Given the description of an element on the screen output the (x, y) to click on. 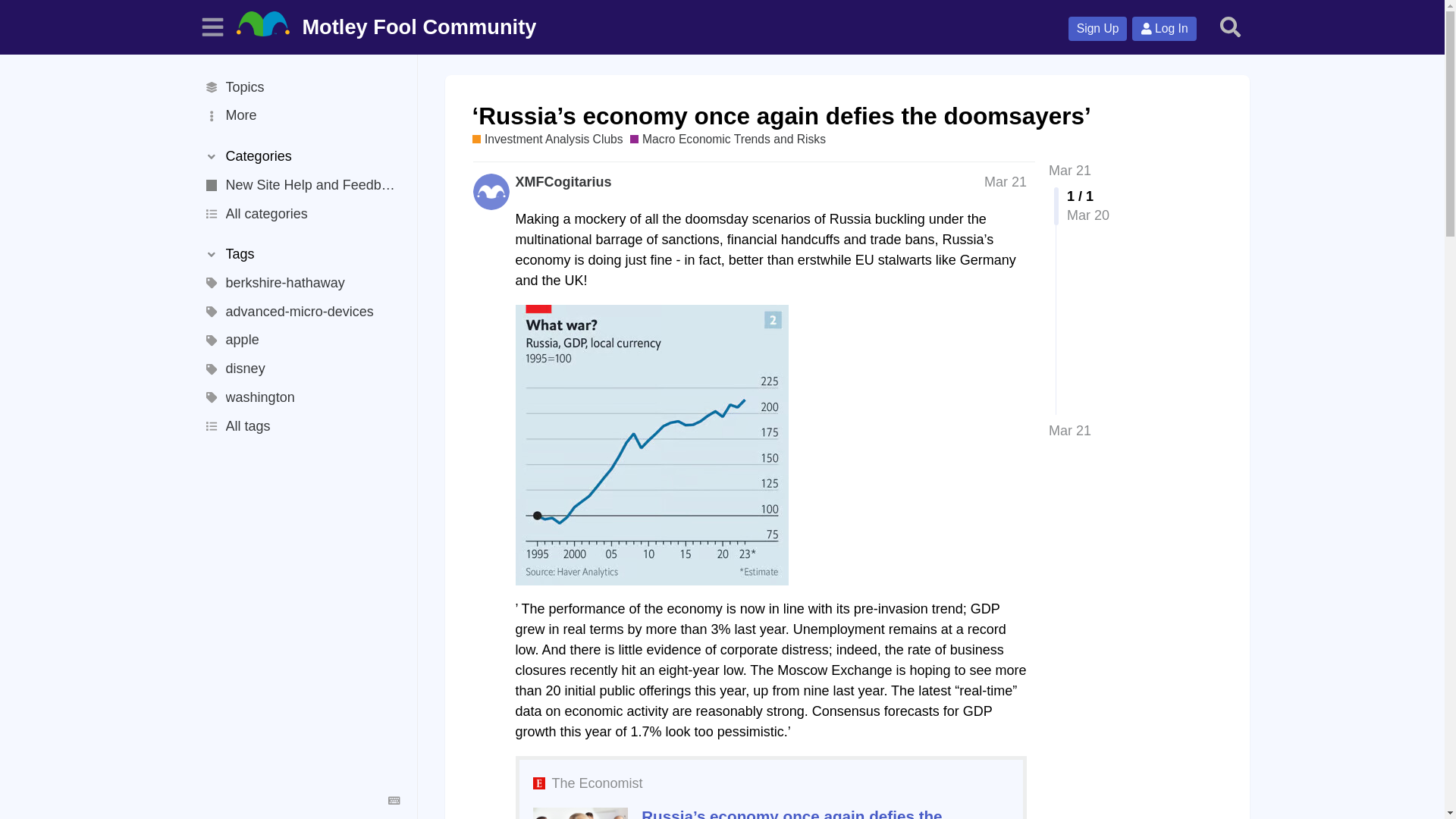
Investment Analysis Clubs (547, 139)
More (300, 115)
Motley Fool Community (389, 27)
Mar 21 (1069, 430)
All tags (300, 426)
XMFCogitarius (563, 181)
washington (300, 398)
Categories (300, 156)
Sidebar (213, 27)
Toggle section (300, 254)
